Given the description of an element on the screen output the (x, y) to click on. 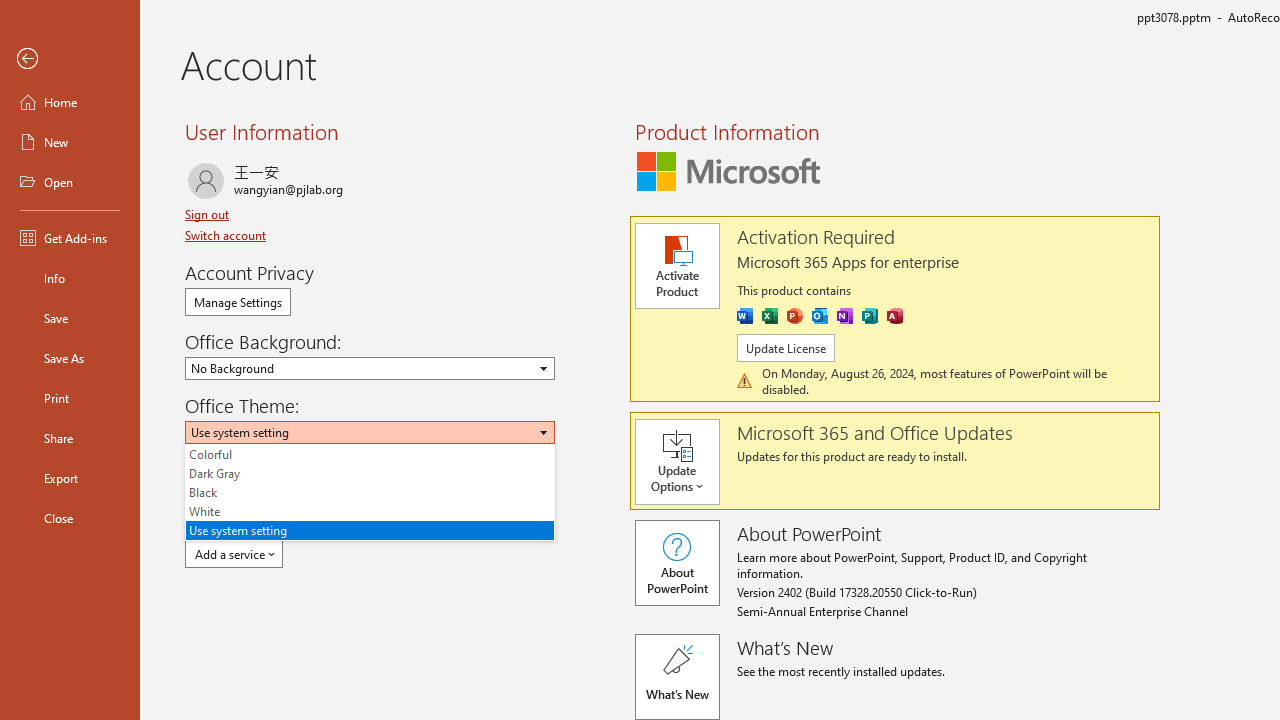
Manage Settings (237, 302)
OneNote (844, 316)
Office Theme (370, 432)
Access (894, 316)
Switch account (227, 235)
